Given the description of an element on the screen output the (x, y) to click on. 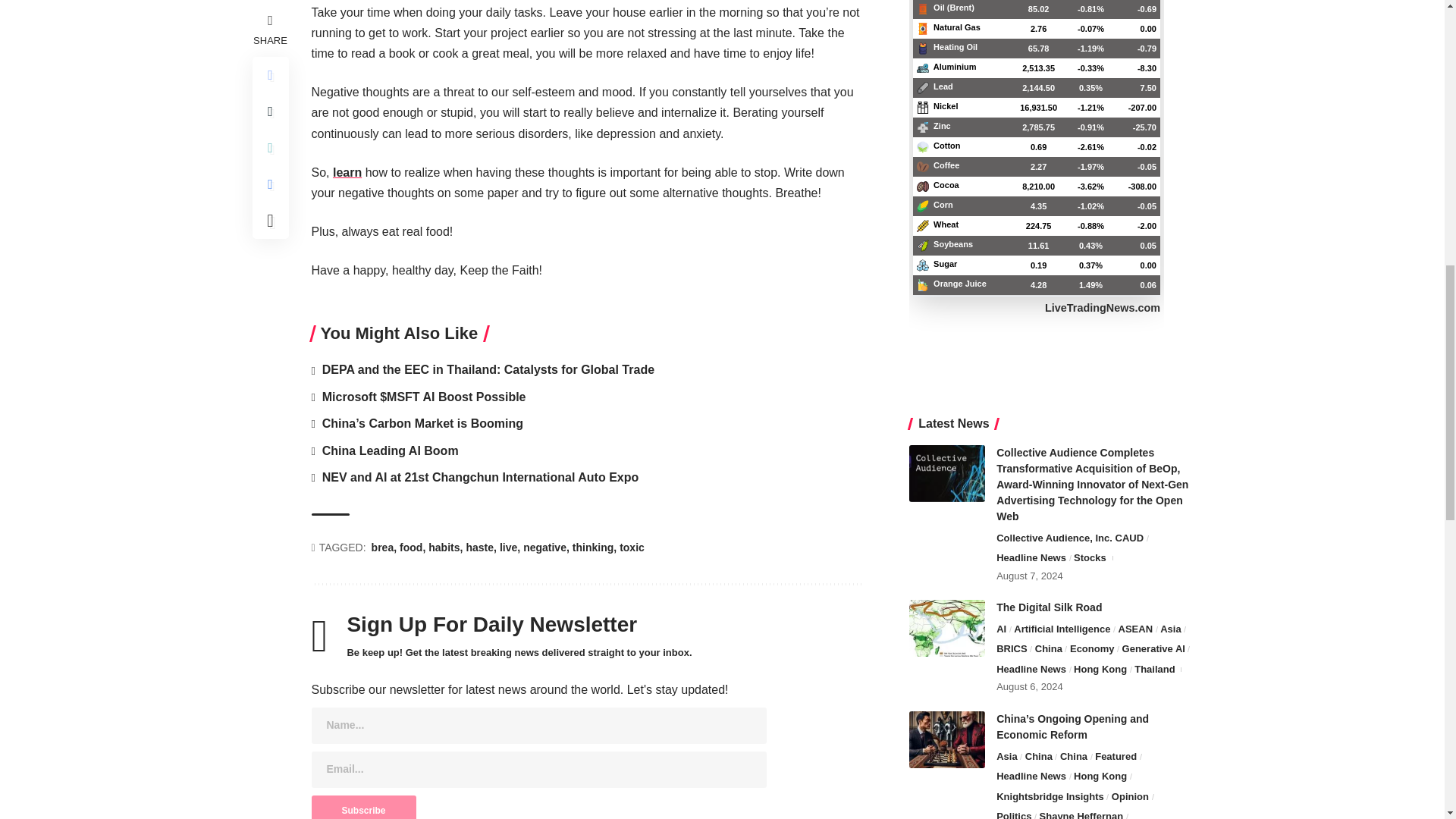
The Digital Silk Road (946, 536)
China National Carbon Emission Trading (946, 803)
Subscribe (362, 807)
